Given the description of an element on the screen output the (x, y) to click on. 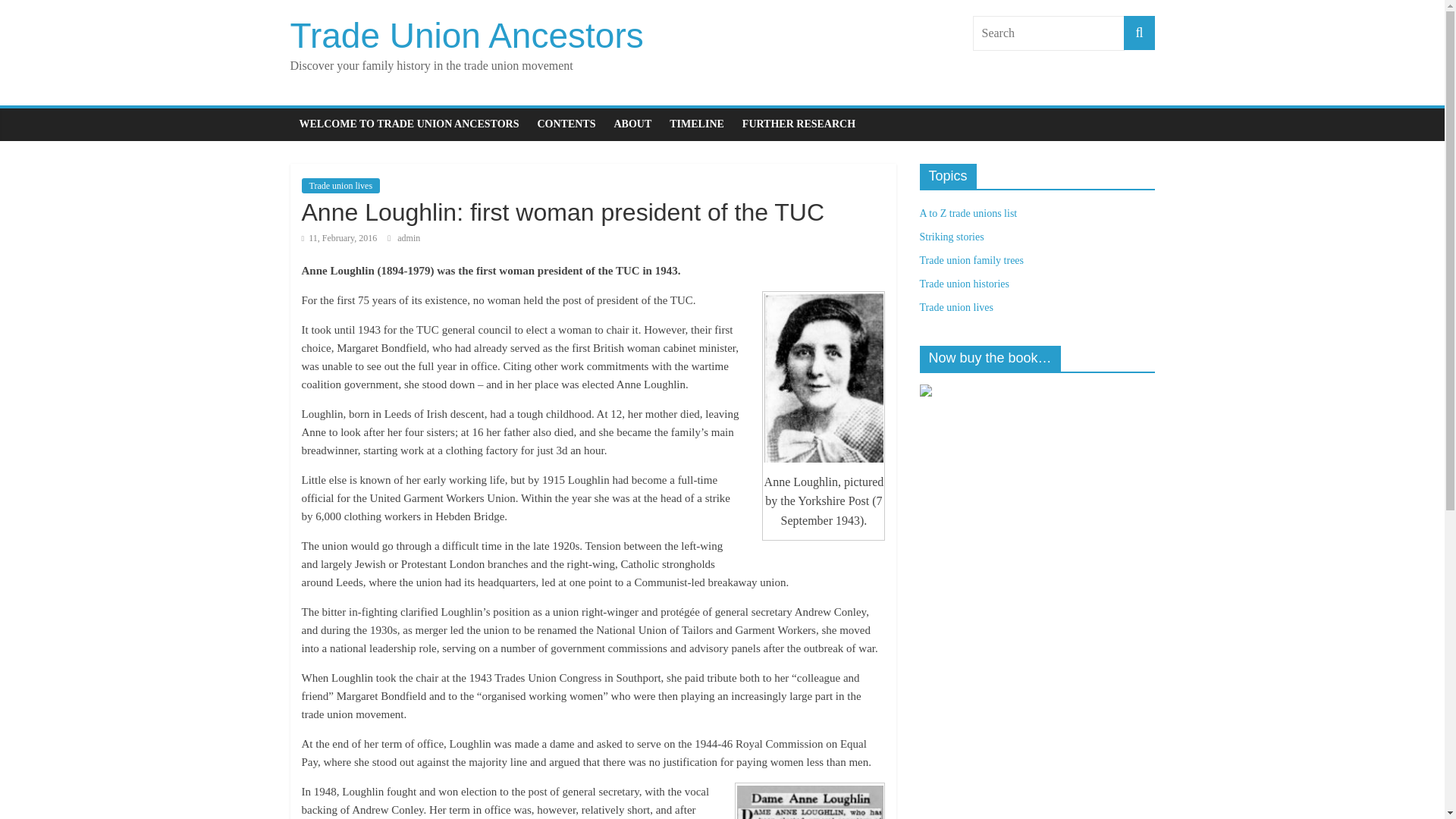
Trade union lives (955, 307)
Trade union family trees (970, 260)
Trade union lives (340, 185)
11, February, 2016 (339, 237)
WELCOME TO TRADE UNION ANCESTORS (408, 124)
Trade union histories (963, 283)
Striking stories (951, 236)
Trade Union Ancestors (466, 35)
Trade Union Ancestors (466, 35)
A to Z trade unions list (967, 213)
